Given the description of an element on the screen output the (x, y) to click on. 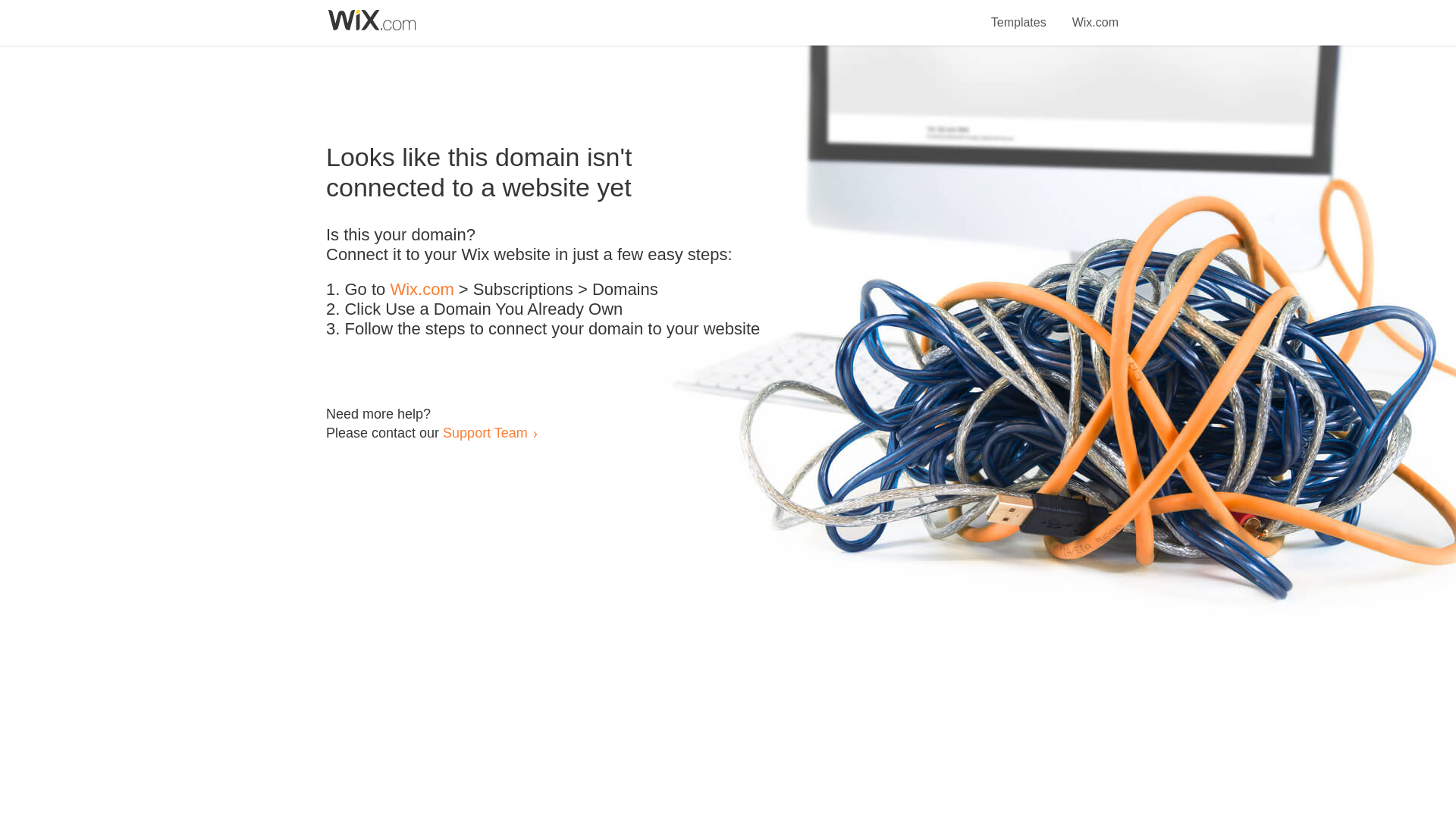
Templates (1018, 14)
Wix.com (1095, 14)
Wix.com (421, 289)
Support Team (484, 432)
